Given the description of an element on the screen output the (x, y) to click on. 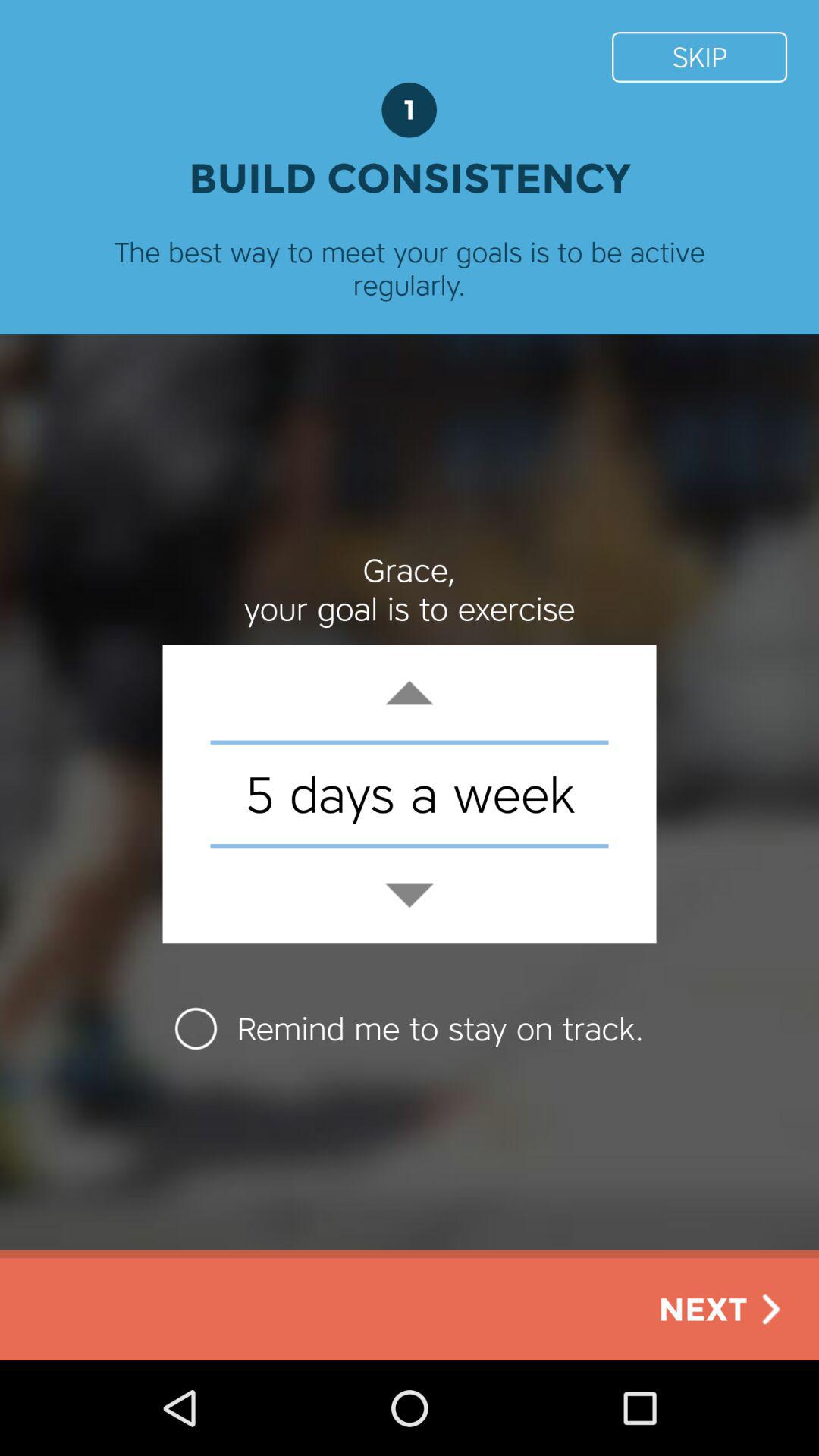
select the icon at the bottom right corner (722, 1309)
